Given the description of an element on the screen output the (x, y) to click on. 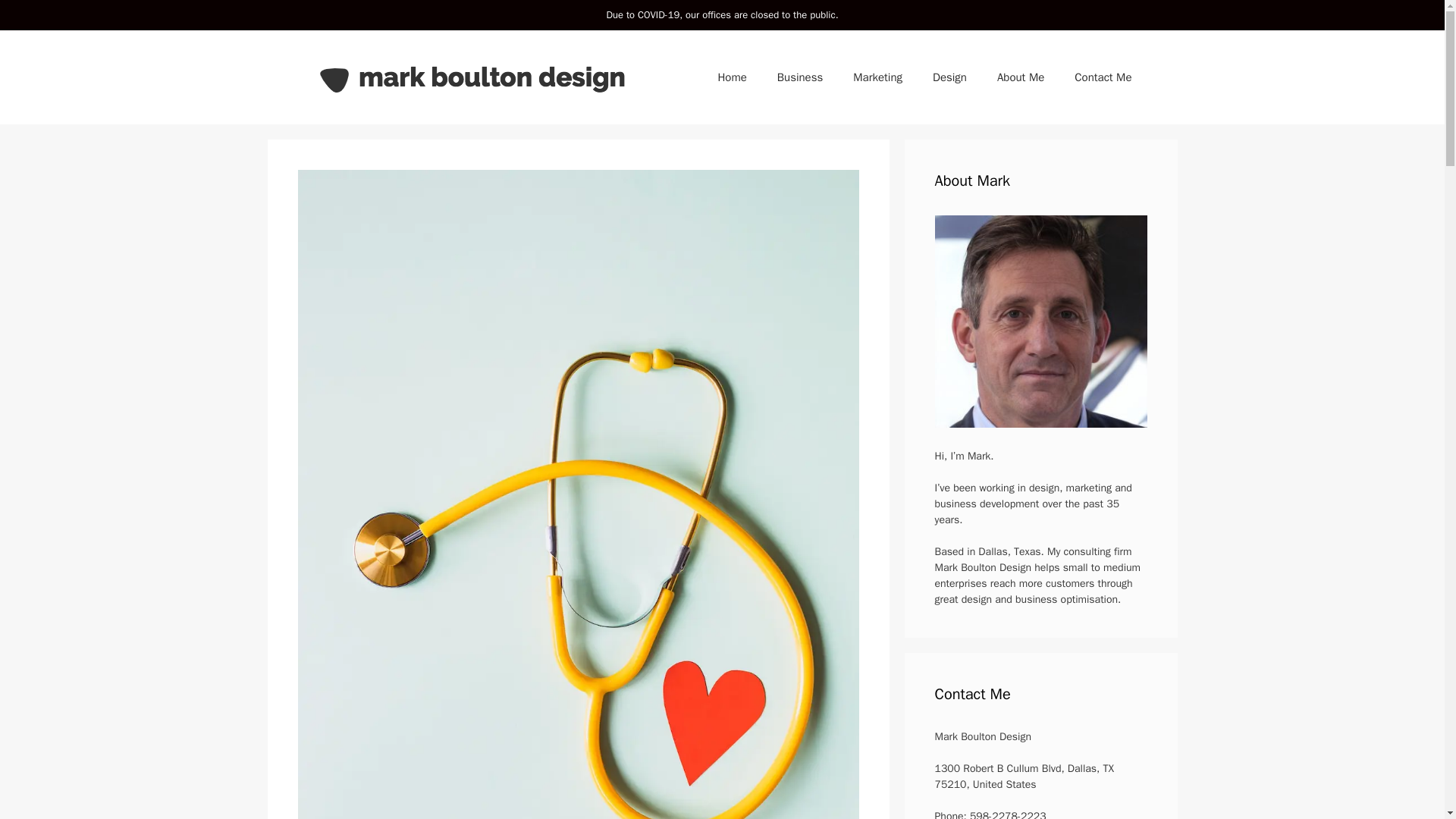
Design (949, 76)
Home (731, 76)
Business (799, 76)
About Me (1020, 76)
Marketing (877, 76)
Contact Me (1103, 76)
